Given the description of an element on the screen output the (x, y) to click on. 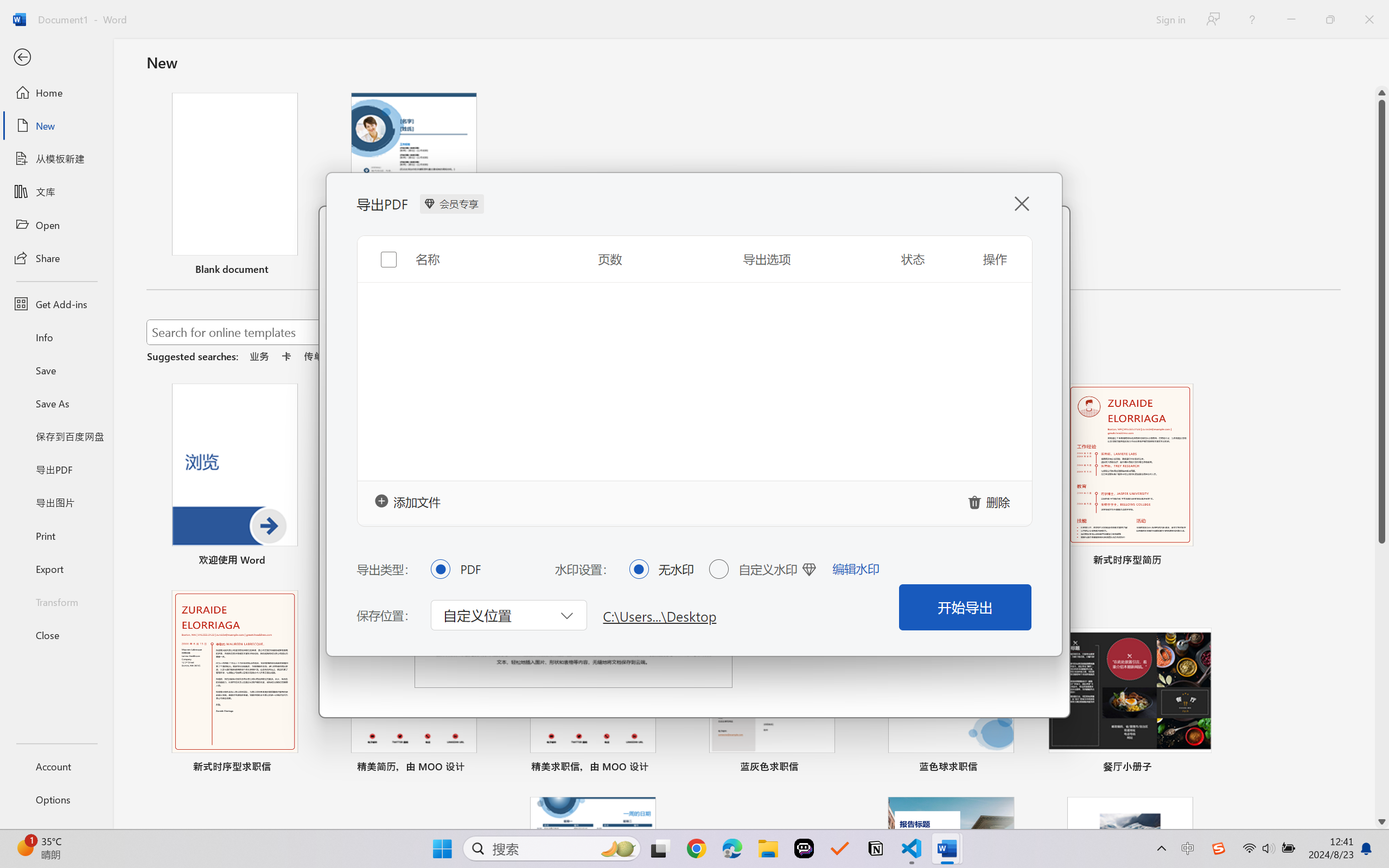
Pin to list (1200, 767)
PDF (440, 568)
Page down (1382, 679)
Back (56, 57)
Options (56, 798)
Account (56, 765)
